Given the description of an element on the screen output the (x, y) to click on. 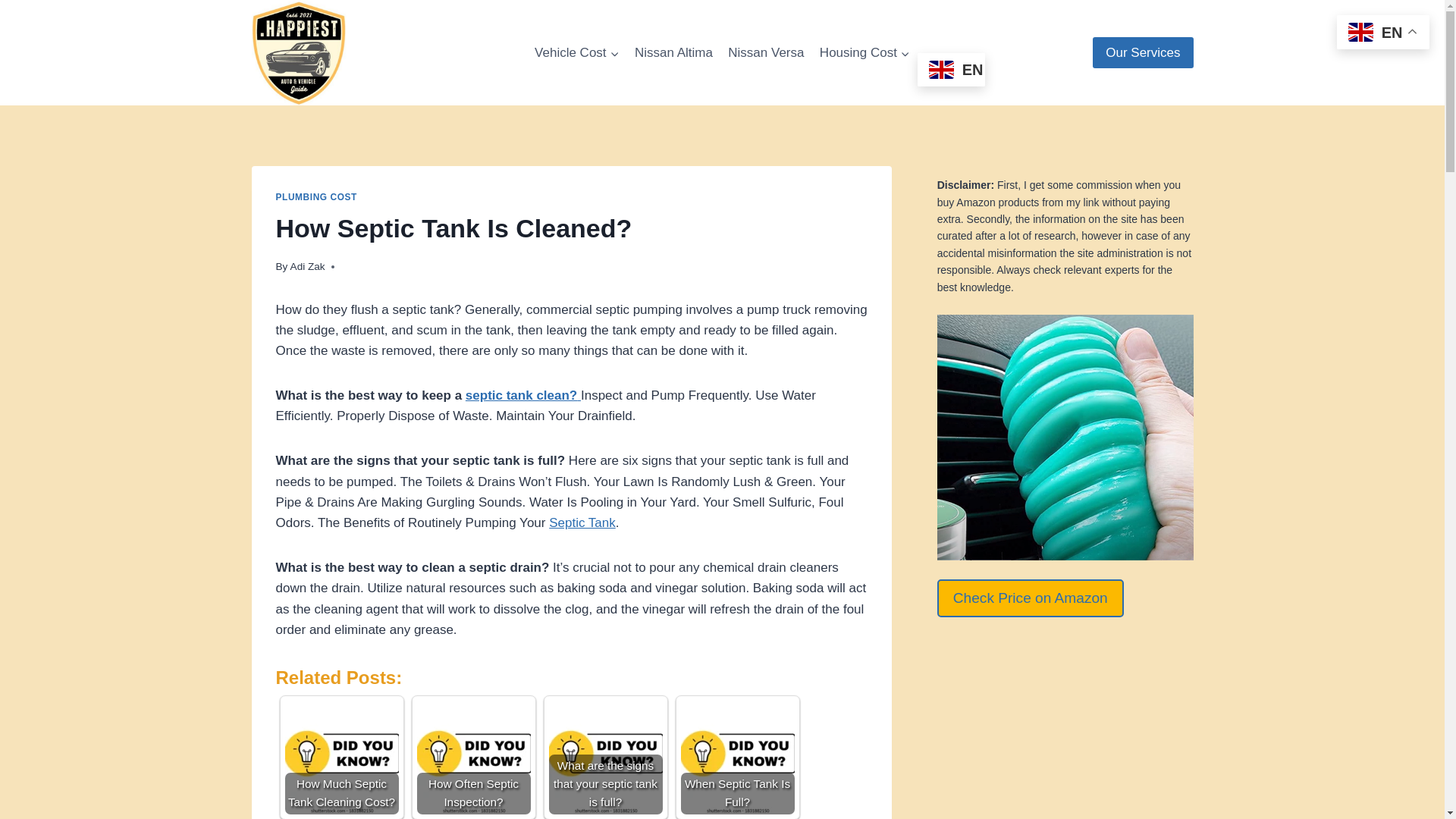
When Septic Tank Is Full? (737, 757)
How Much Septic Tank Cleaning Cost? (341, 757)
Advertisement (1065, 728)
How Often Septic Inspection? (473, 757)
Nissan Altima (673, 53)
What are the signs that your septic tank is full? (605, 757)
Housing Cost (864, 53)
Nissan Versa (766, 53)
Vehicle Cost (577, 53)
